Given the description of an element on the screen output the (x, y) to click on. 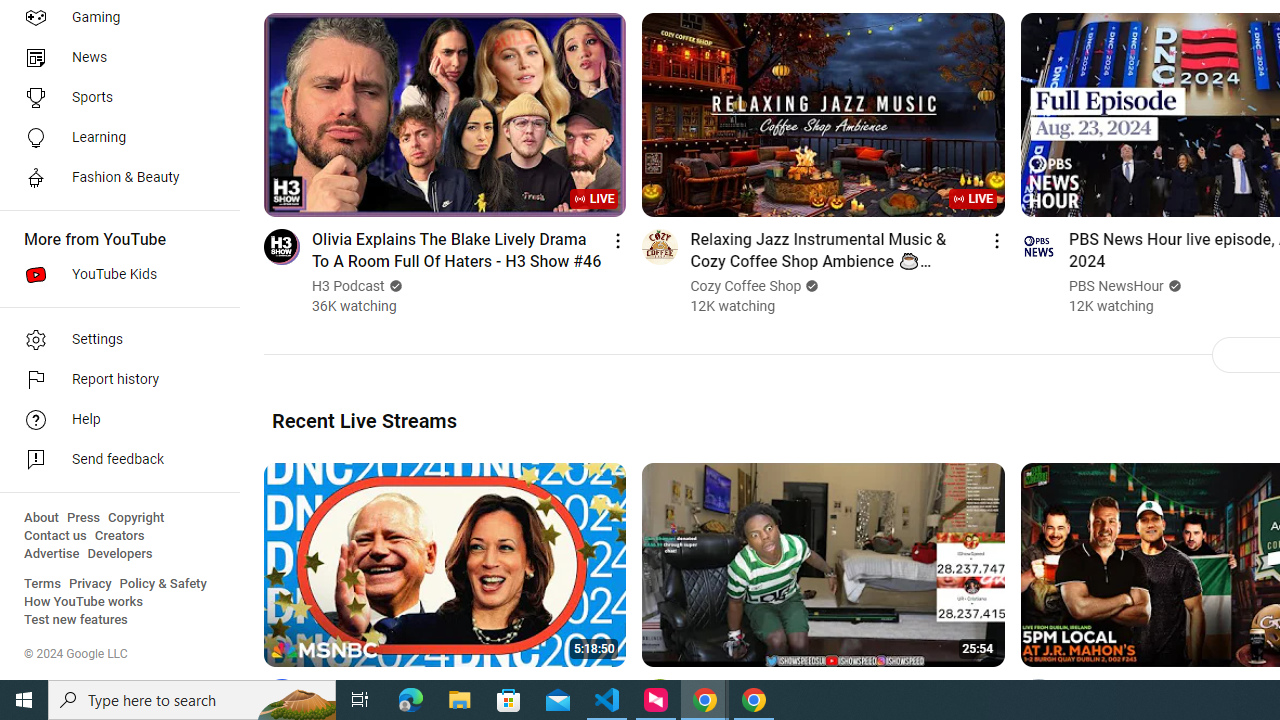
Action menu (996, 690)
Creators (118, 536)
Fashion & Beauty (113, 177)
PBS NewsHour (1116, 285)
Test new features (76, 620)
Developers (120, 554)
Verified (1172, 286)
Policy & Safety (163, 584)
Send feedback (113, 459)
Learning (113, 137)
